Given the description of an element on the screen output the (x, y) to click on. 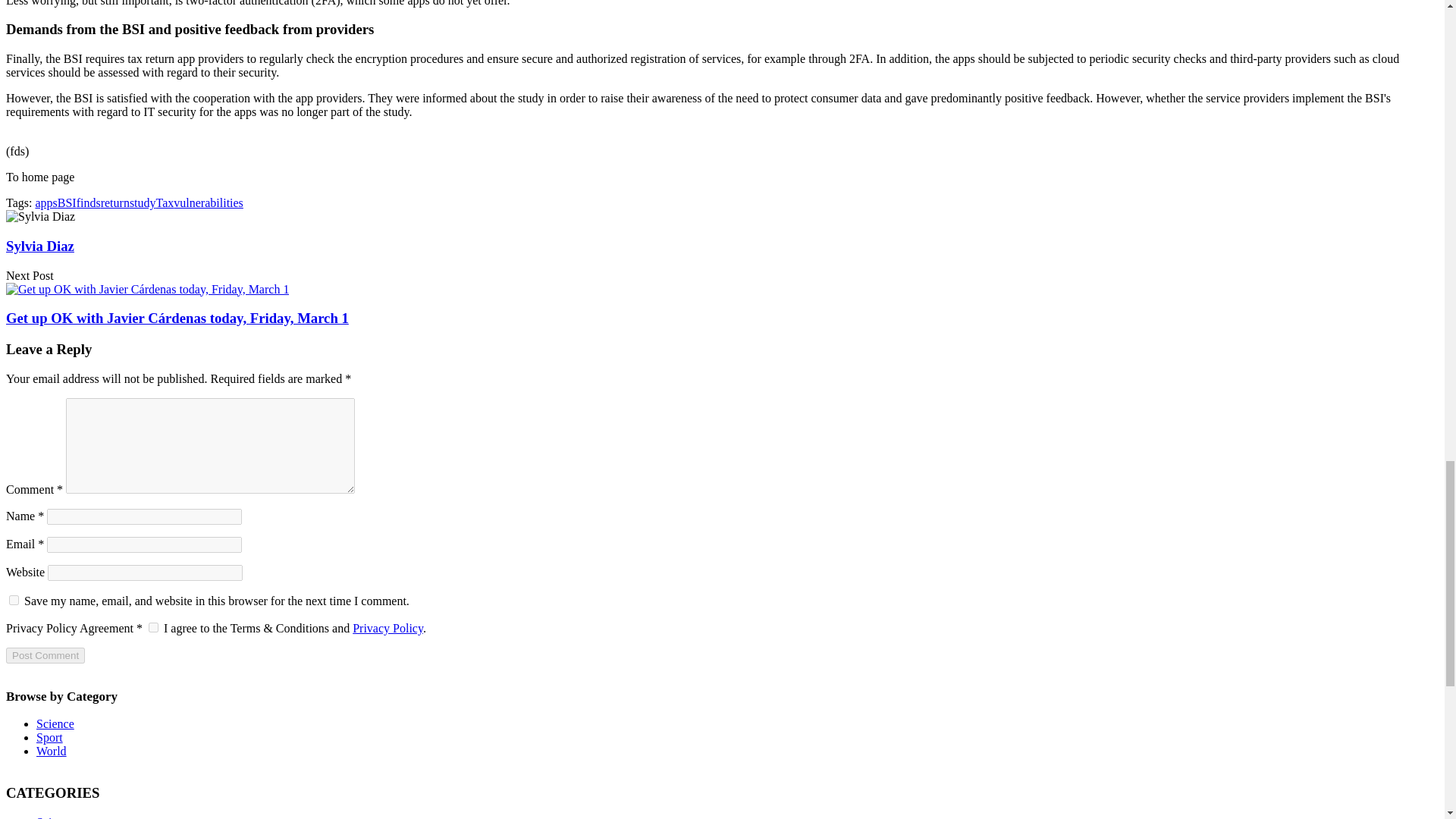
Post Comment (44, 655)
finds (88, 202)
Post Comment (44, 655)
apps (45, 202)
Sylvia Diaz (39, 245)
Tax (164, 202)
return (114, 202)
Privacy Policy (387, 627)
vulnerabilities (208, 202)
yes (13, 600)
on (153, 627)
study (142, 202)
BSI (67, 202)
